Given the description of an element on the screen output the (x, y) to click on. 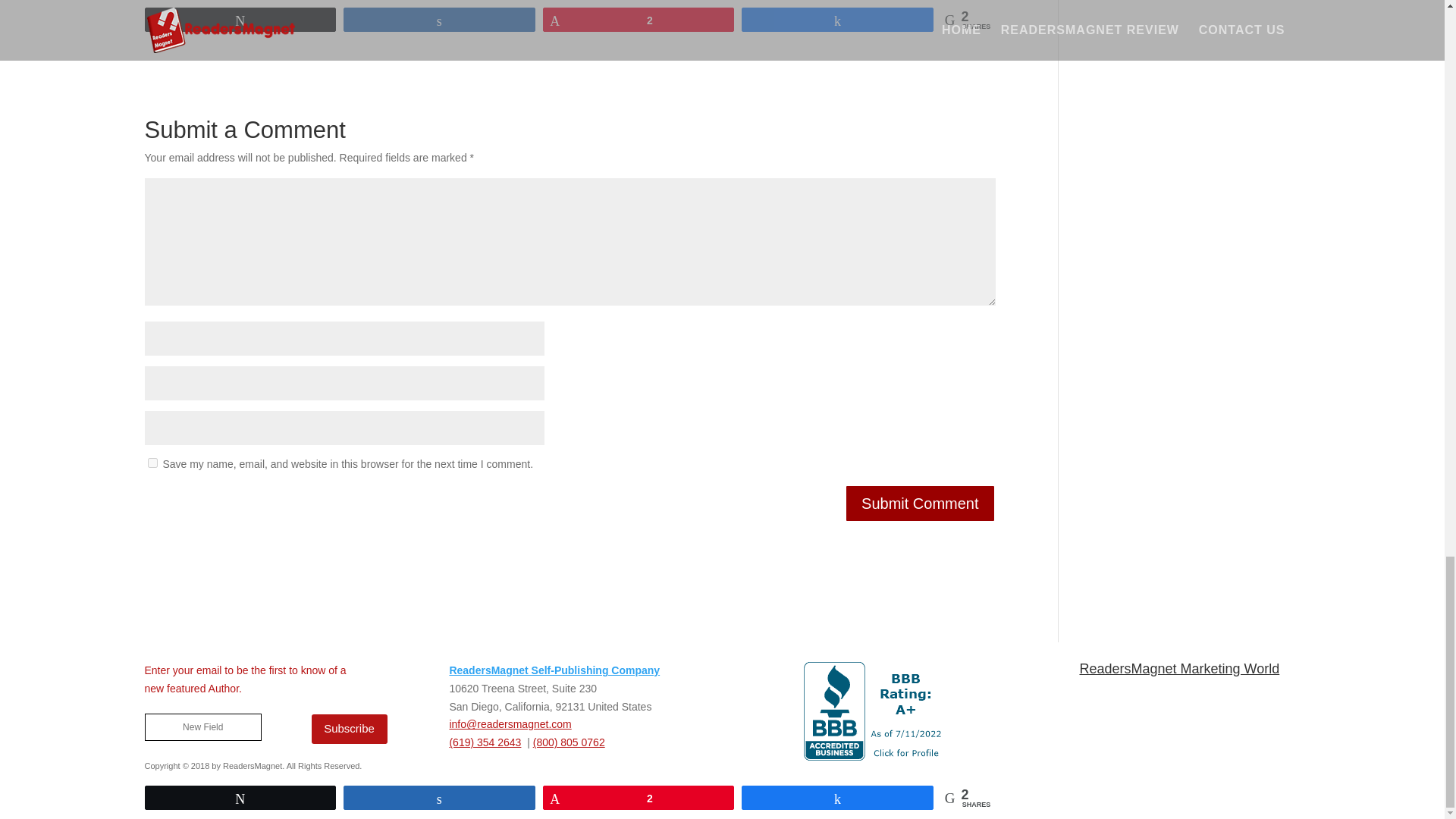
2 (638, 19)
Subscribe (349, 728)
ReadersMagnet Self-Publishing Company (553, 670)
Submit Comment (919, 503)
ReadersMagnet reviews (1178, 668)
Submit Comment (919, 503)
ReadersMagnet Marketing World (1178, 668)
ReadersMagnet (553, 670)
yes (152, 462)
